Given the description of an element on the screen output the (x, y) to click on. 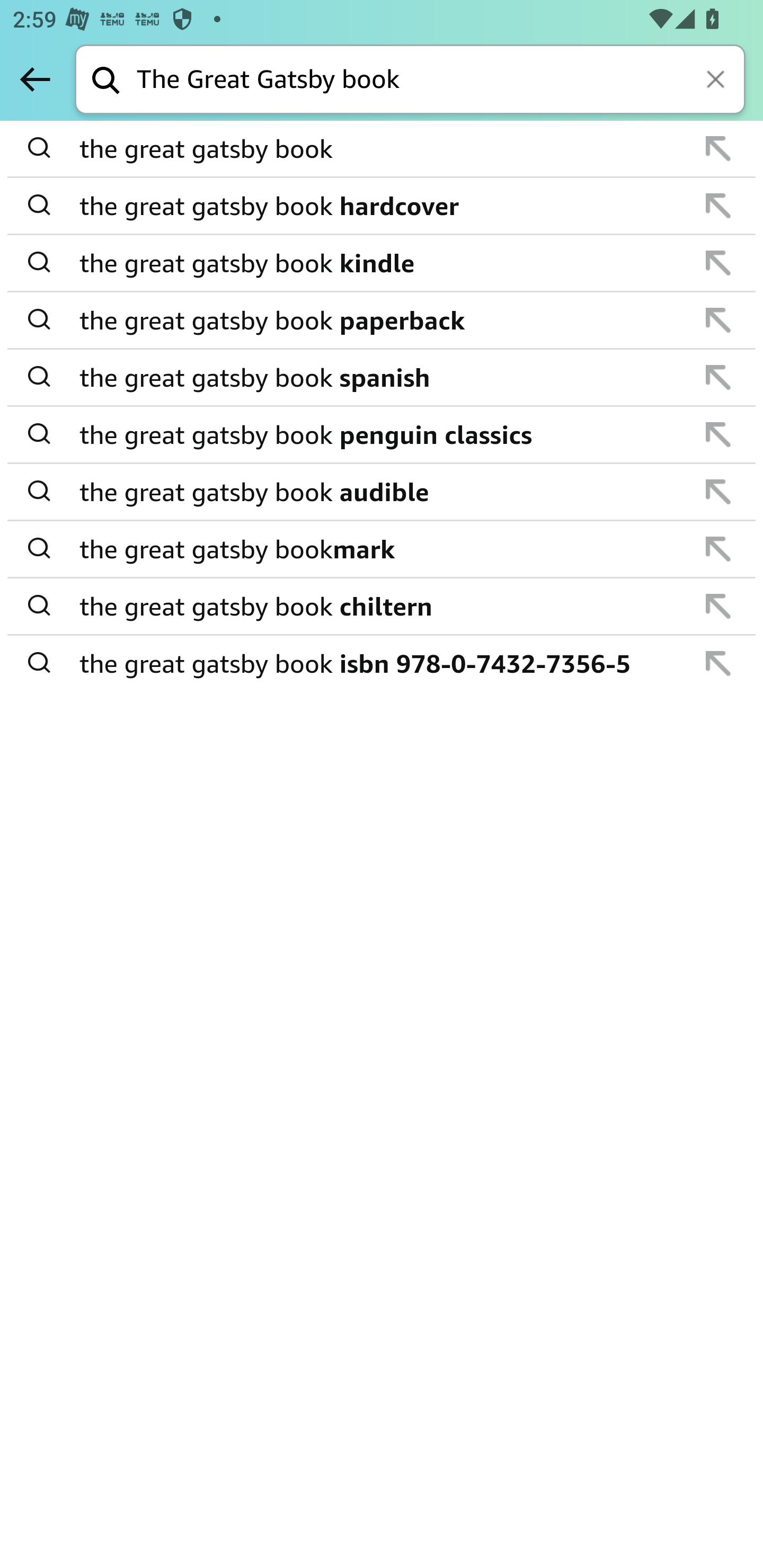
The Great Gatsby book (440, 80)
Clear search keywords (717, 80)
Back (35, 78)
append suggestion the great gatsby book (381, 149)
the great gatsby book (382, 149)
append suggestion (718, 147)
the great gatsby book hardcover (382, 205)
append suggestion the great gatsby book hardcover (381, 206)
append suggestion (718, 205)
the great gatsby book kindle (382, 262)
append suggestion the great gatsby book kindle (381, 263)
append suggestion (718, 262)
the great gatsby book paperback (382, 319)
append suggestion the great gatsby book paperback (381, 320)
append suggestion (718, 319)
the great gatsby book spanish (382, 377)
append suggestion the great gatsby book spanish (381, 377)
append suggestion (718, 376)
the great gatsby book penguin classics (382, 434)
append suggestion (718, 434)
the great gatsby book audible (382, 491)
append suggestion the great gatsby book audible (381, 492)
append suggestion (718, 491)
the great gatsby bookmark (382, 548)
append suggestion the great gatsby bookmark (381, 549)
append suggestion (718, 548)
the great gatsby book chiltern (382, 606)
append suggestion the great gatsby book chiltern (381, 606)
append suggestion (718, 605)
the great gatsby book isbn 978-0-7432-7356-5 (382, 662)
append suggestion (718, 663)
